Given the description of an element on the screen output the (x, y) to click on. 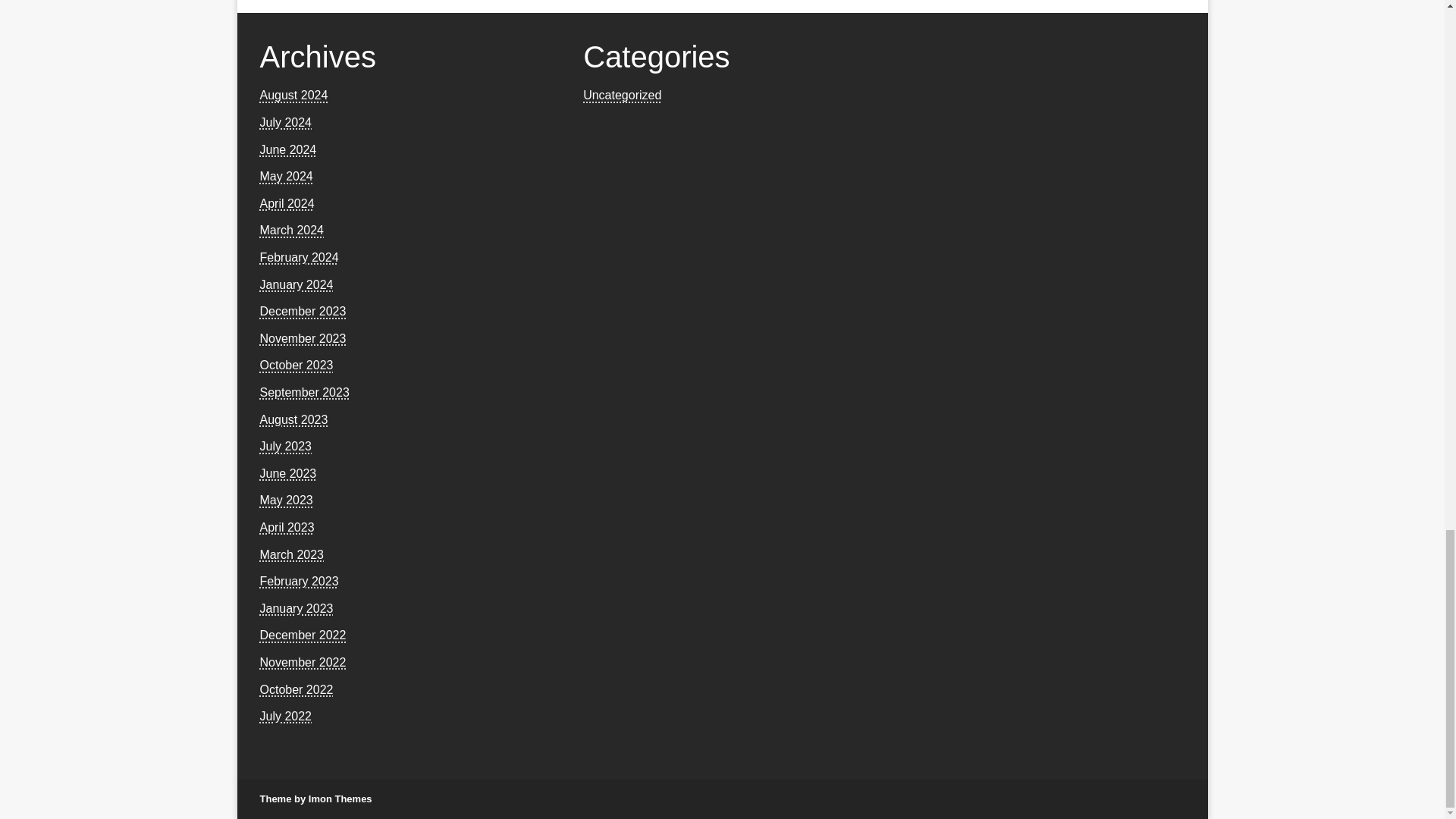
August 2024 (293, 94)
July 2024 (285, 122)
May 2024 (286, 175)
June 2024 (287, 149)
